Given the description of an element on the screen output the (x, y) to click on. 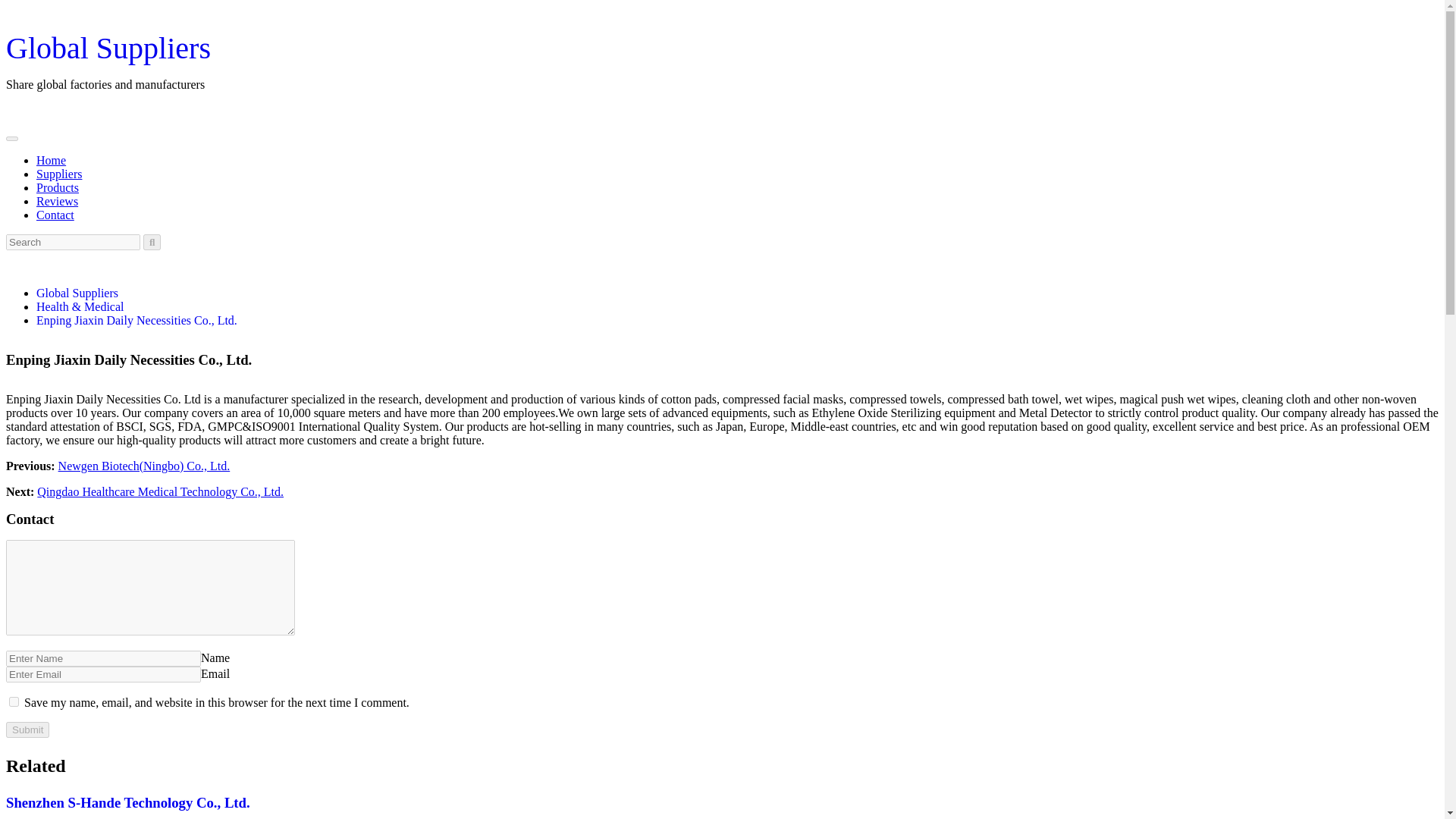
Submit (27, 729)
Global Suppliers (76, 292)
Suppliers (58, 173)
Enping Jiaxin Daily Necessities Co., Ltd. (136, 319)
Global Suppliers (108, 48)
Reviews (57, 201)
Products (57, 187)
Search (151, 242)
Home (50, 160)
Submit (27, 729)
Shenzhen S-Hande Technology Co., Ltd. (127, 802)
Contact (55, 214)
Qingdao Healthcare Medical Technology Co., Ltd. (160, 491)
yes (13, 701)
